Given the description of an element on the screen output the (x, y) to click on. 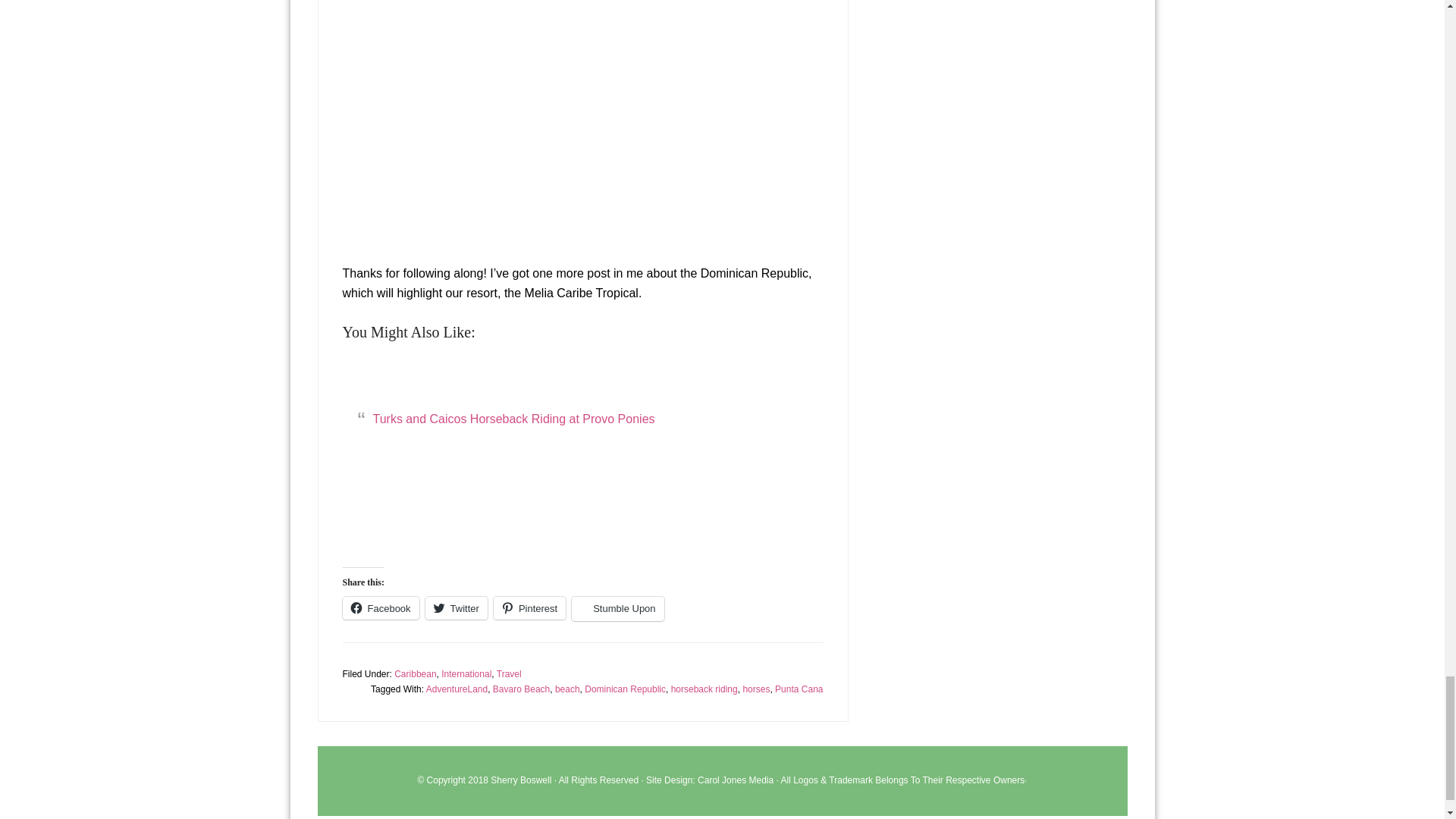
beach (566, 688)
Dominican Republic (625, 688)
Punta Cana (798, 688)
horseback riding (704, 688)
Click to share on Stumble Upon (617, 608)
AdventureLand (456, 688)
Pinterest (529, 608)
Click to share on Facebook (380, 608)
Turks and Caicos Horseback Riding at Provo Ponies (513, 418)
Facebook (380, 608)
International (466, 674)
Caribbean (414, 674)
Twitter (456, 608)
Click to share on Pinterest (529, 608)
Stumble Upon (617, 608)
